Given the description of an element on the screen output the (x, y) to click on. 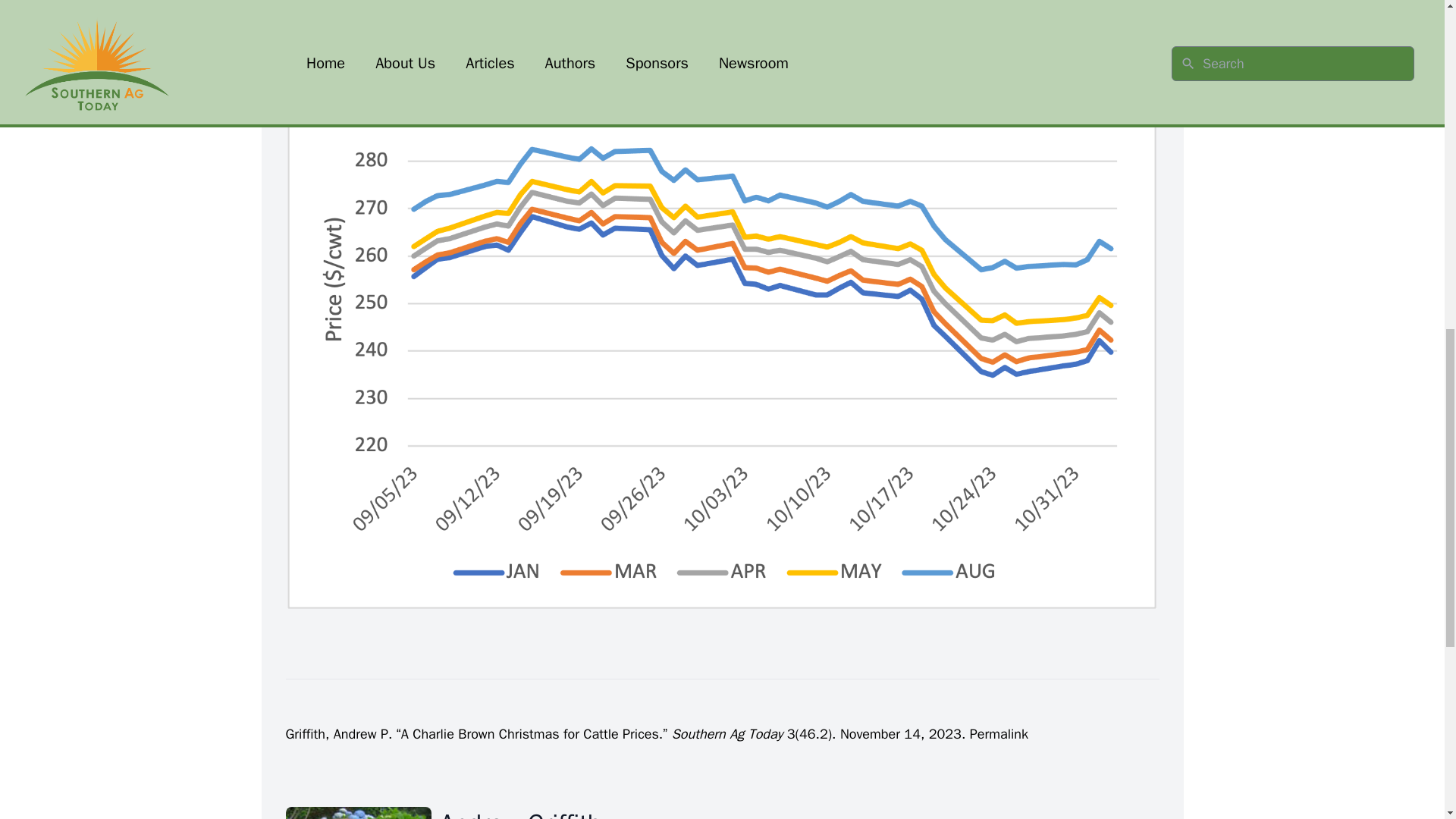
Andrew Griffith (536, 812)
Andrew Griffith (357, 812)
A Charlie Brown Christmas for Cattle Prices. (531, 733)
Permalink (998, 733)
